Given the description of an element on the screen output the (x, y) to click on. 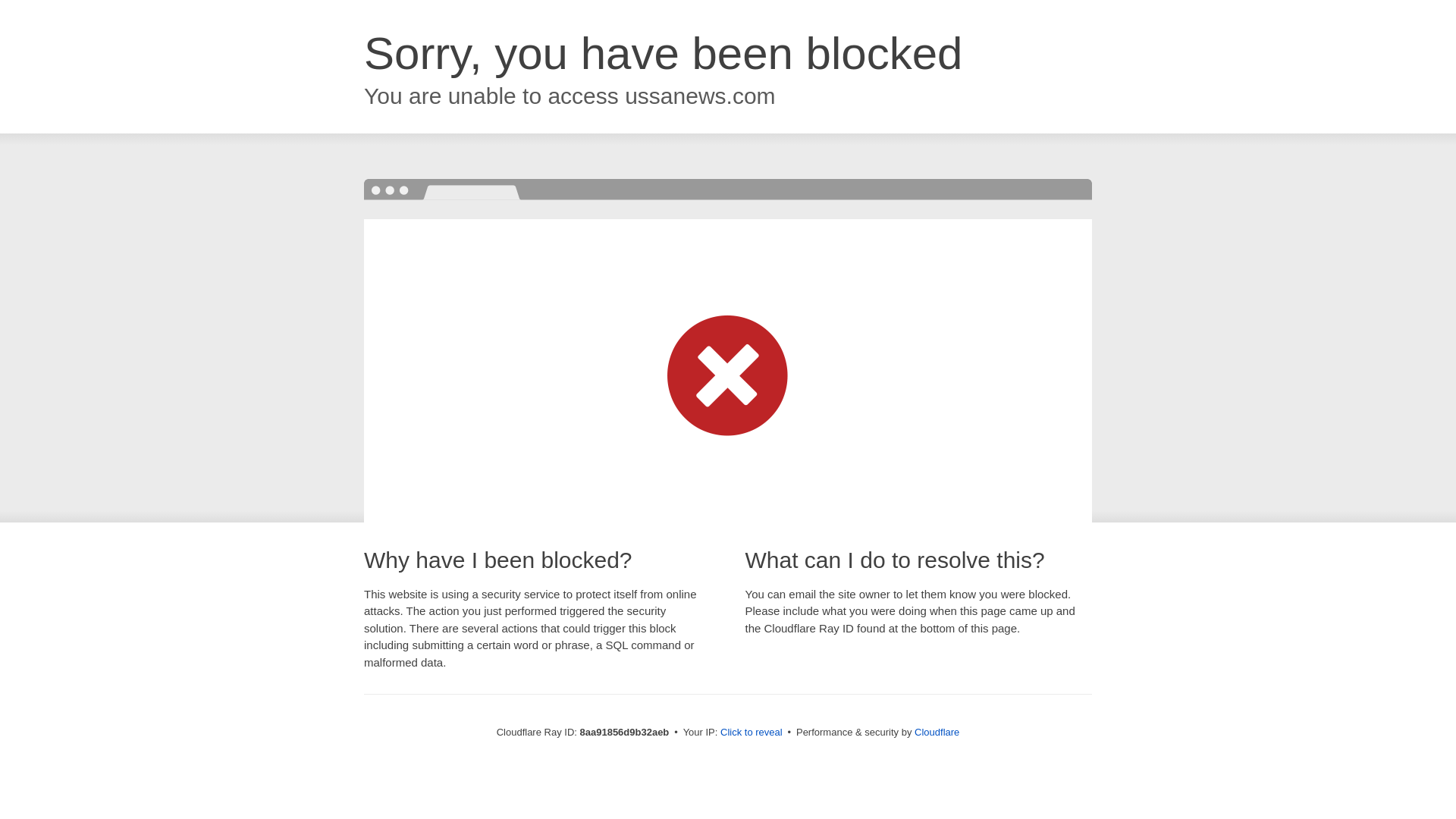
Click to reveal (751, 732)
Cloudflare (936, 731)
